Given the description of an element on the screen output the (x, y) to click on. 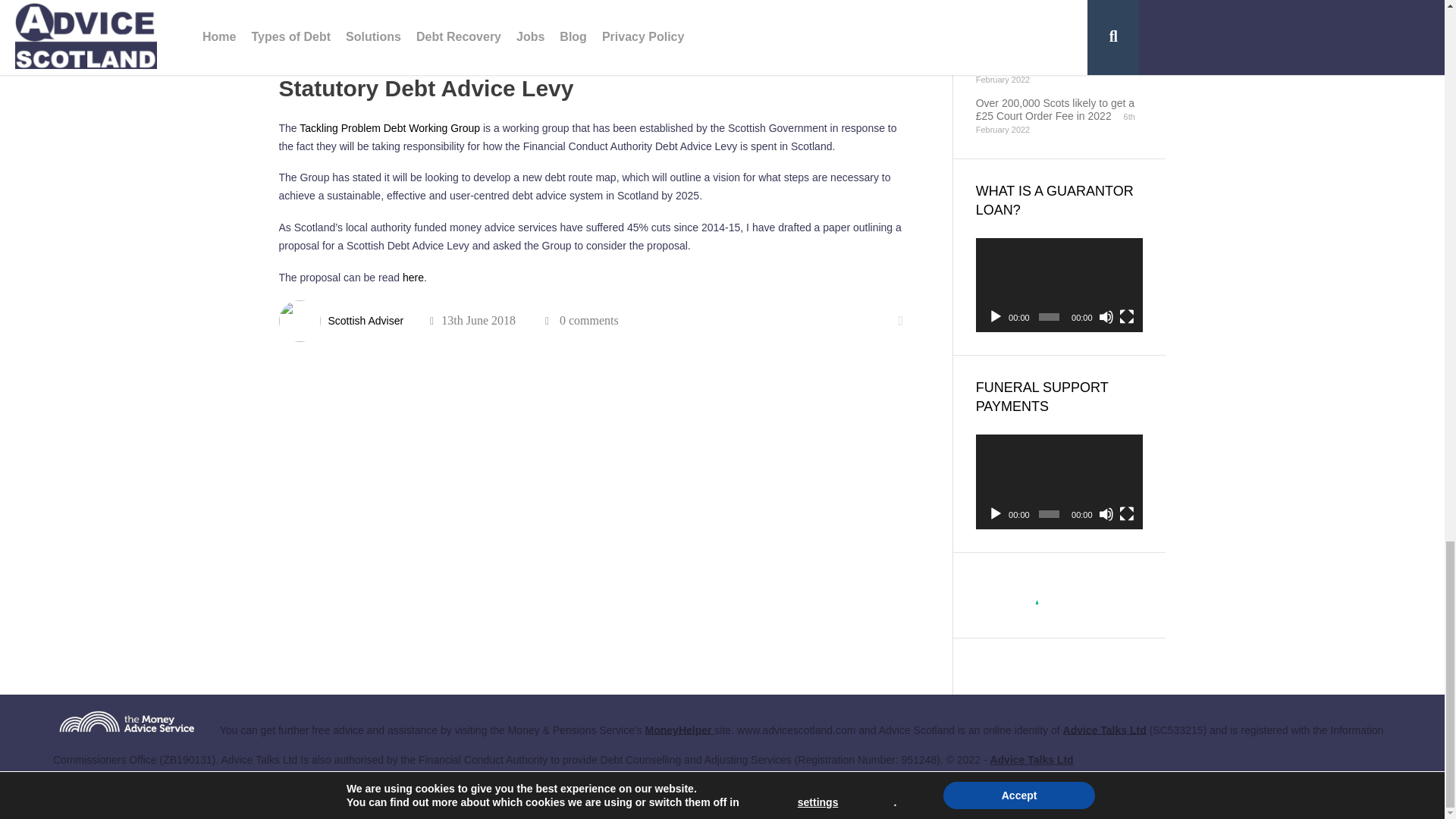
11:27 am (472, 320)
Permalink to Statutory Debt Advice Levy (426, 88)
View as Mobile (1340, 788)
View all posts by Scottish Adviser (365, 320)
